Given the description of an element on the screen output the (x, y) to click on. 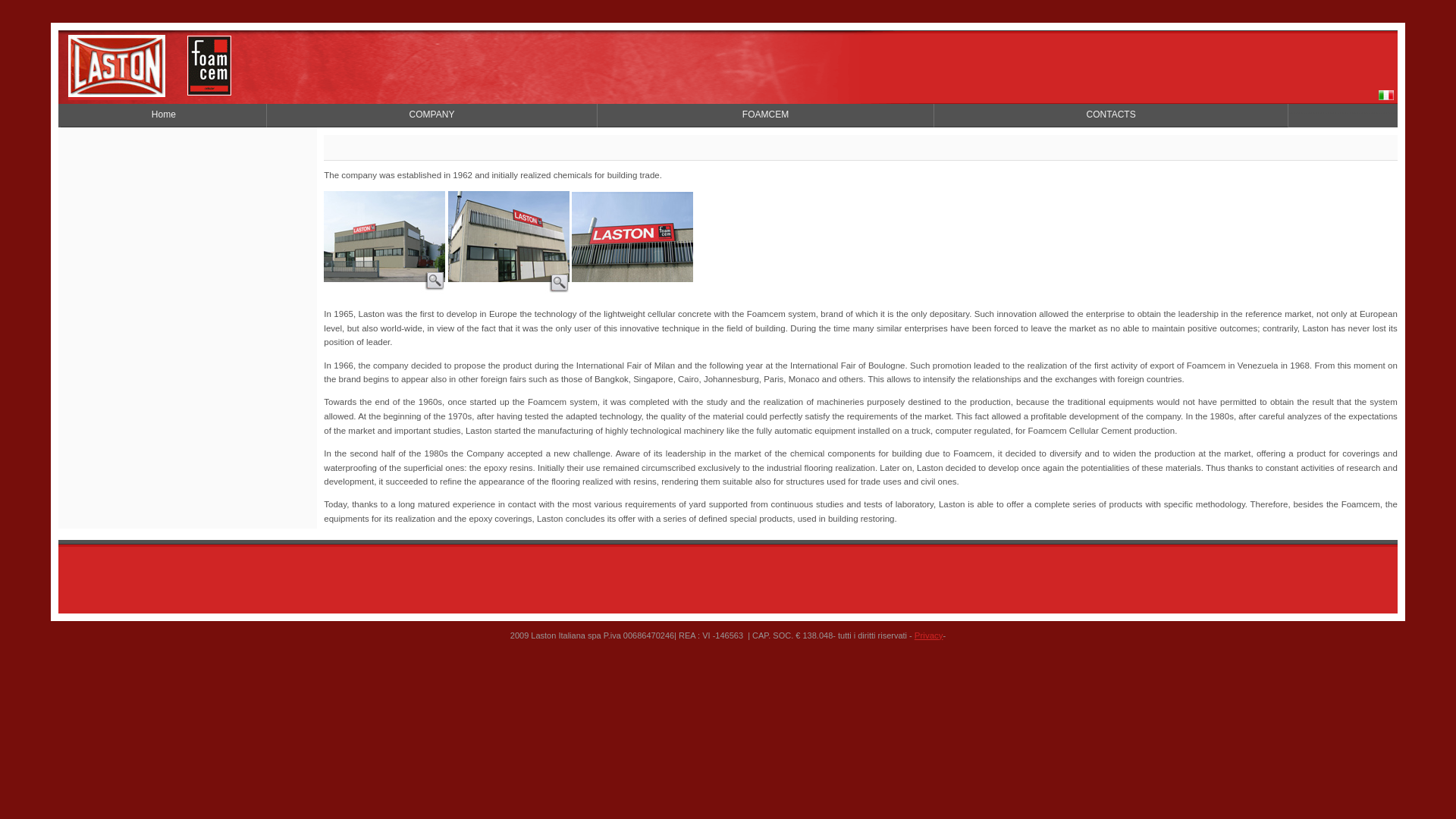
Privacy (928, 634)
Home (163, 114)
COMPANY (432, 114)
FOAMCEM (764, 114)
CONTACTS (1111, 114)
